Given the description of an element on the screen output the (x, y) to click on. 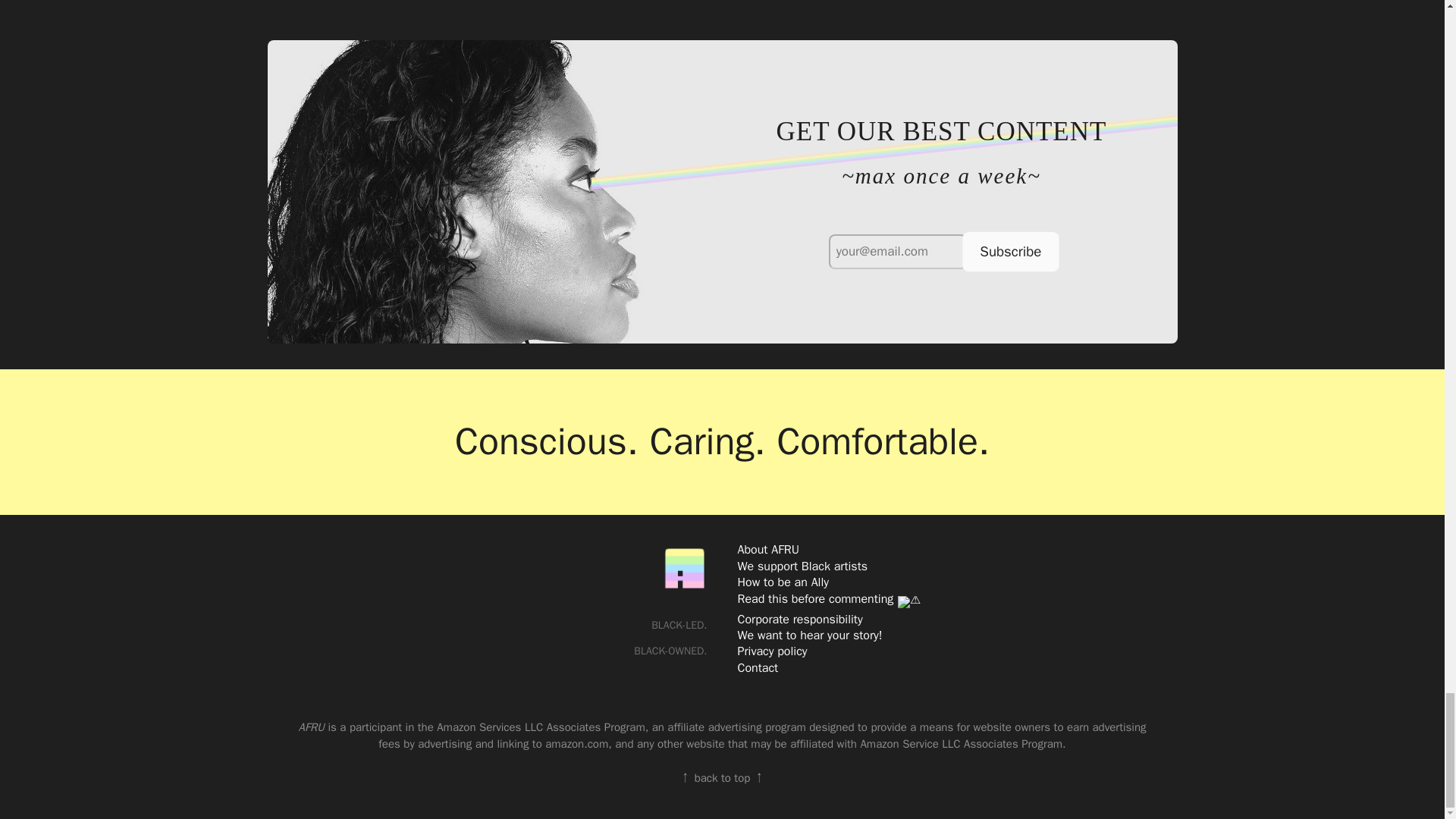
About AFRU (767, 549)
We support Black artists (801, 566)
Subscribe (1005, 249)
